Given the description of an element on the screen output the (x, y) to click on. 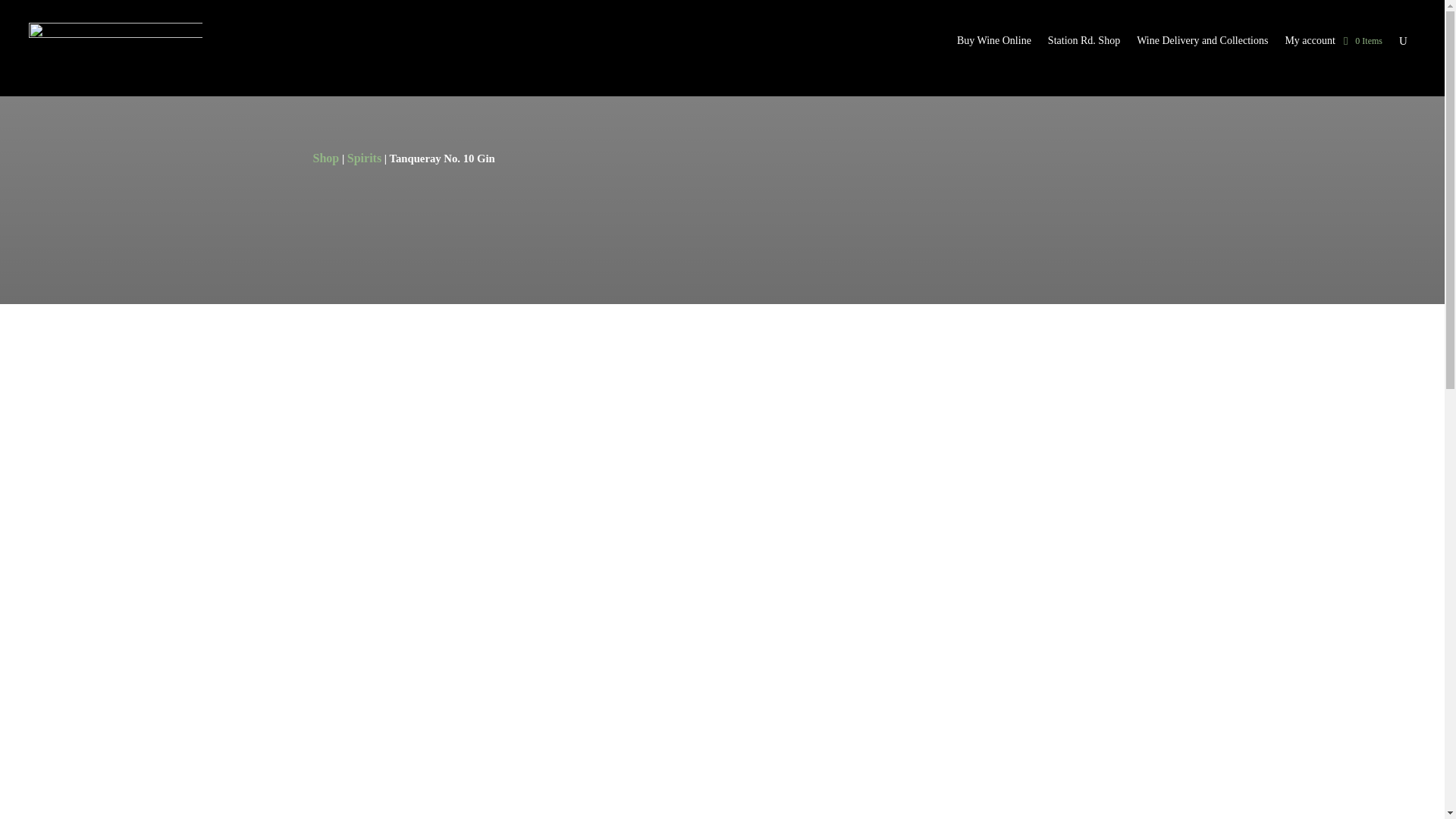
Shop (326, 157)
0 Items (1362, 40)
My account (1309, 44)
Station Rd. Shop (1083, 44)
Buy Wine Online (993, 44)
Spirits (364, 157)
wine-shop-logo-simplified (115, 49)
1047 (678, 708)
Wine Delivery and Collections (1202, 44)
